Given the description of an element on the screen output the (x, y) to click on. 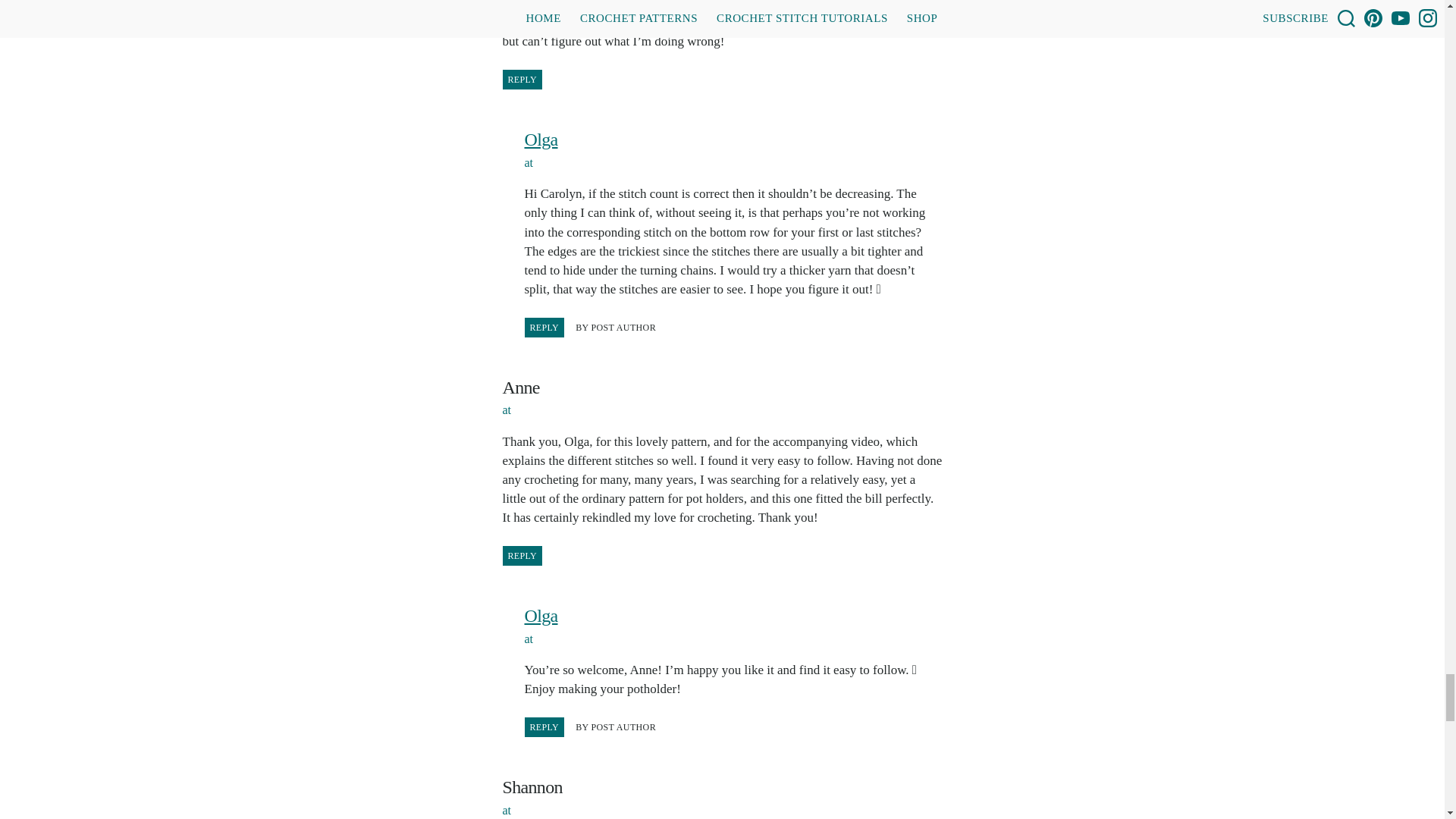
REPLY (544, 727)
REPLY (544, 327)
REPLY (521, 555)
REPLY (521, 79)
